Given the description of an element on the screen output the (x, y) to click on. 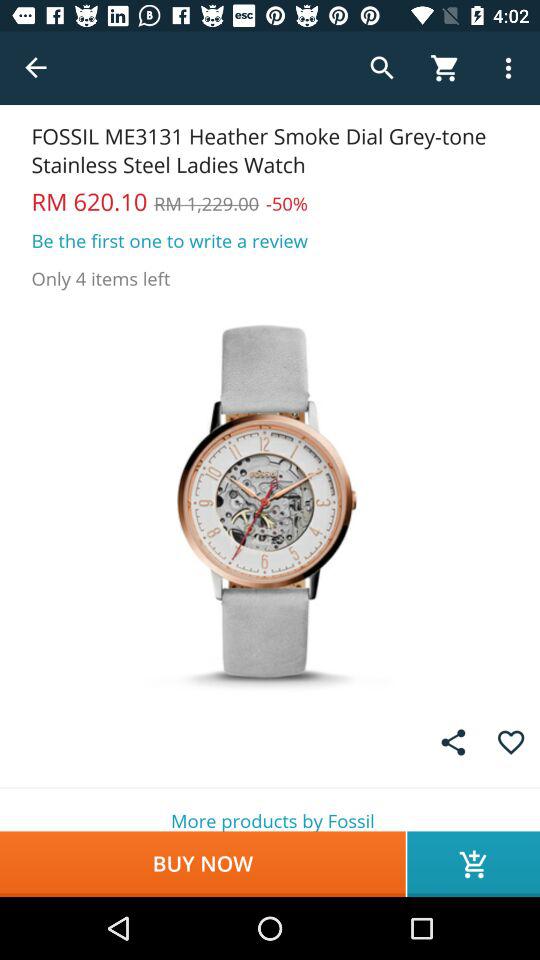
share the item (453, 742)
